Given the description of an element on the screen output the (x, y) to click on. 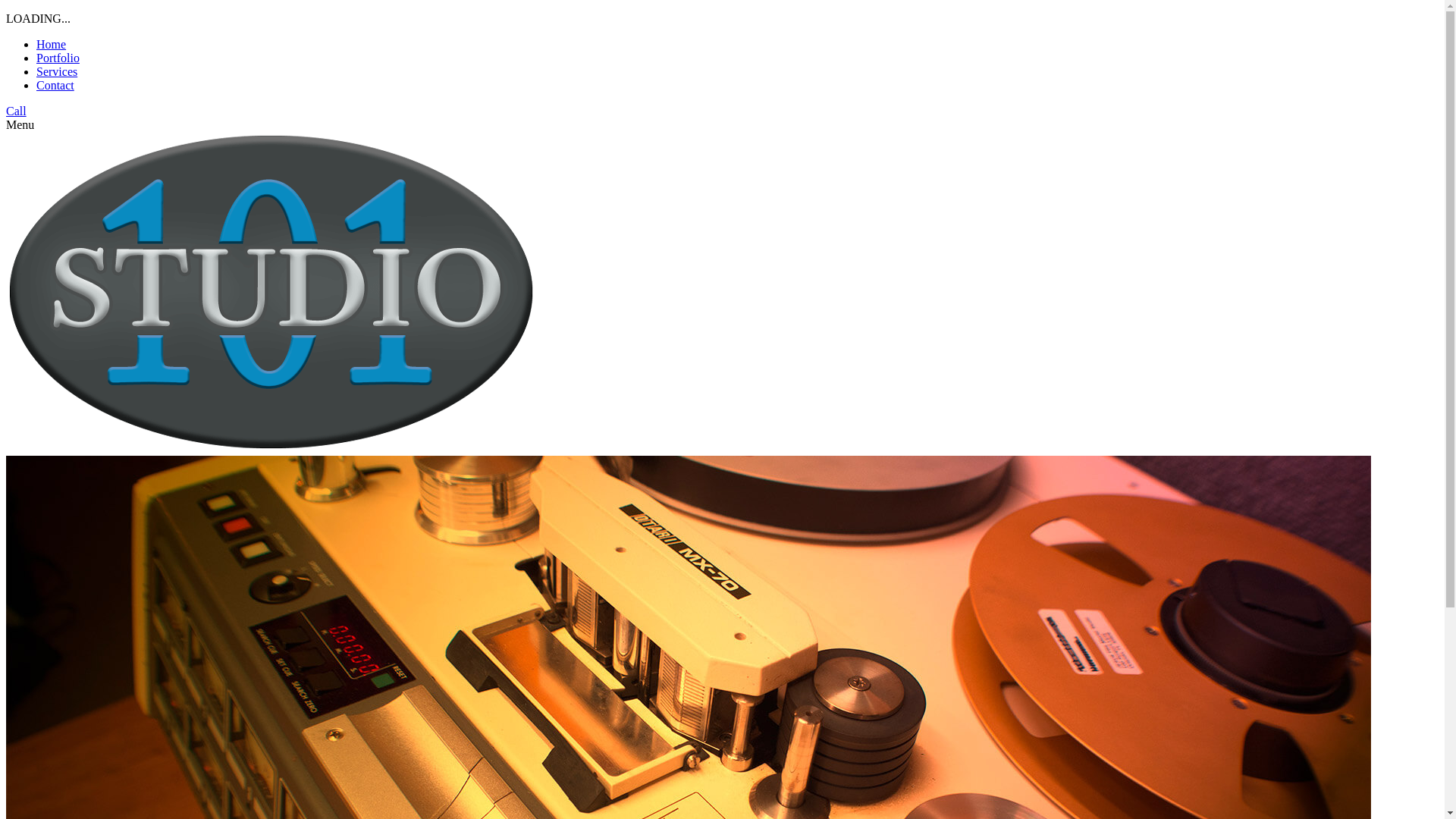
Services Element type: text (56, 71)
Portfolio Element type: text (57, 57)
Home Element type: text (50, 43)
Call Element type: text (16, 110)
Contact Element type: text (55, 84)
